Given the description of an element on the screen output the (x, y) to click on. 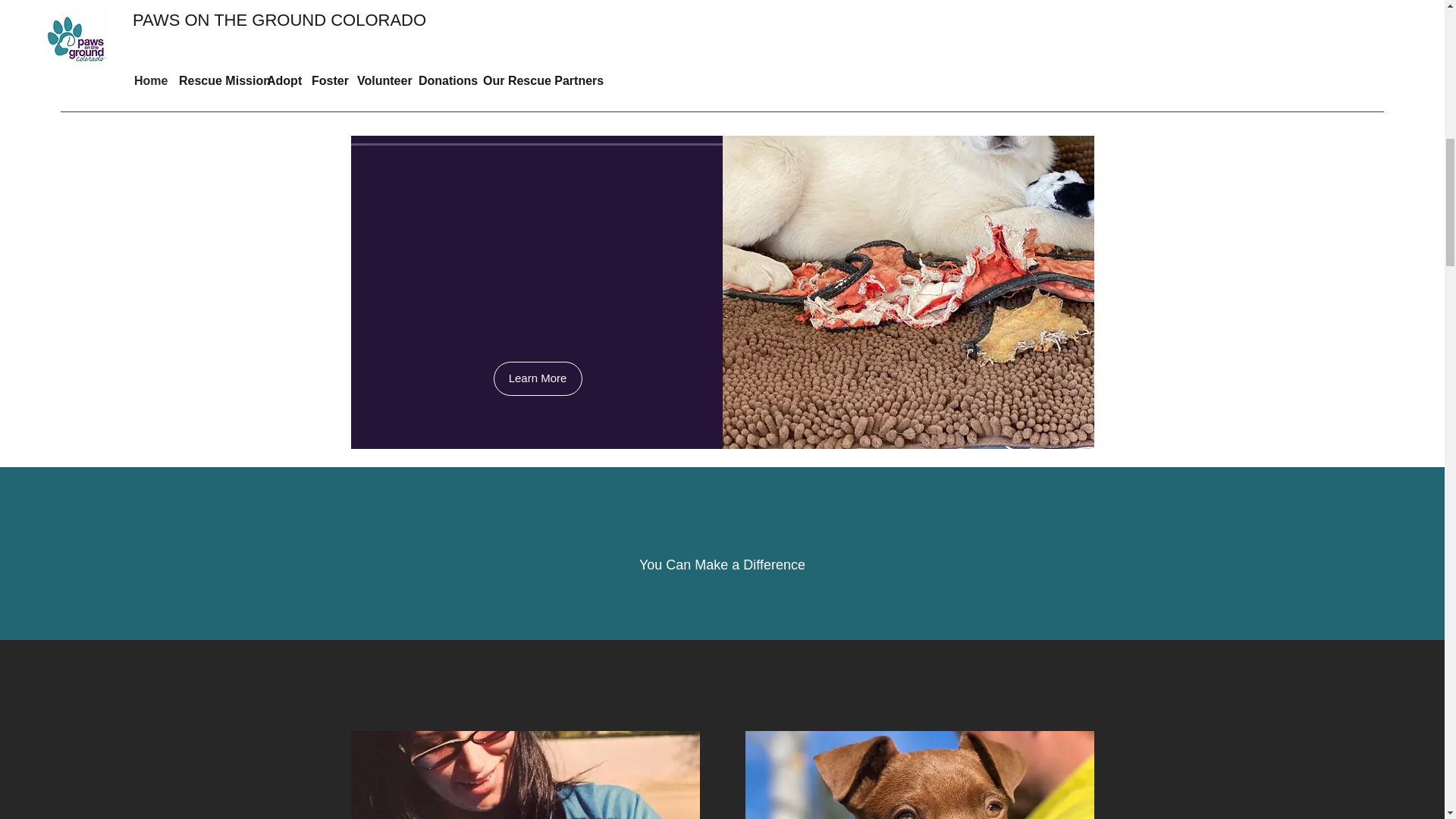
Learn More (536, 378)
